Given the description of an element on the screen output the (x, y) to click on. 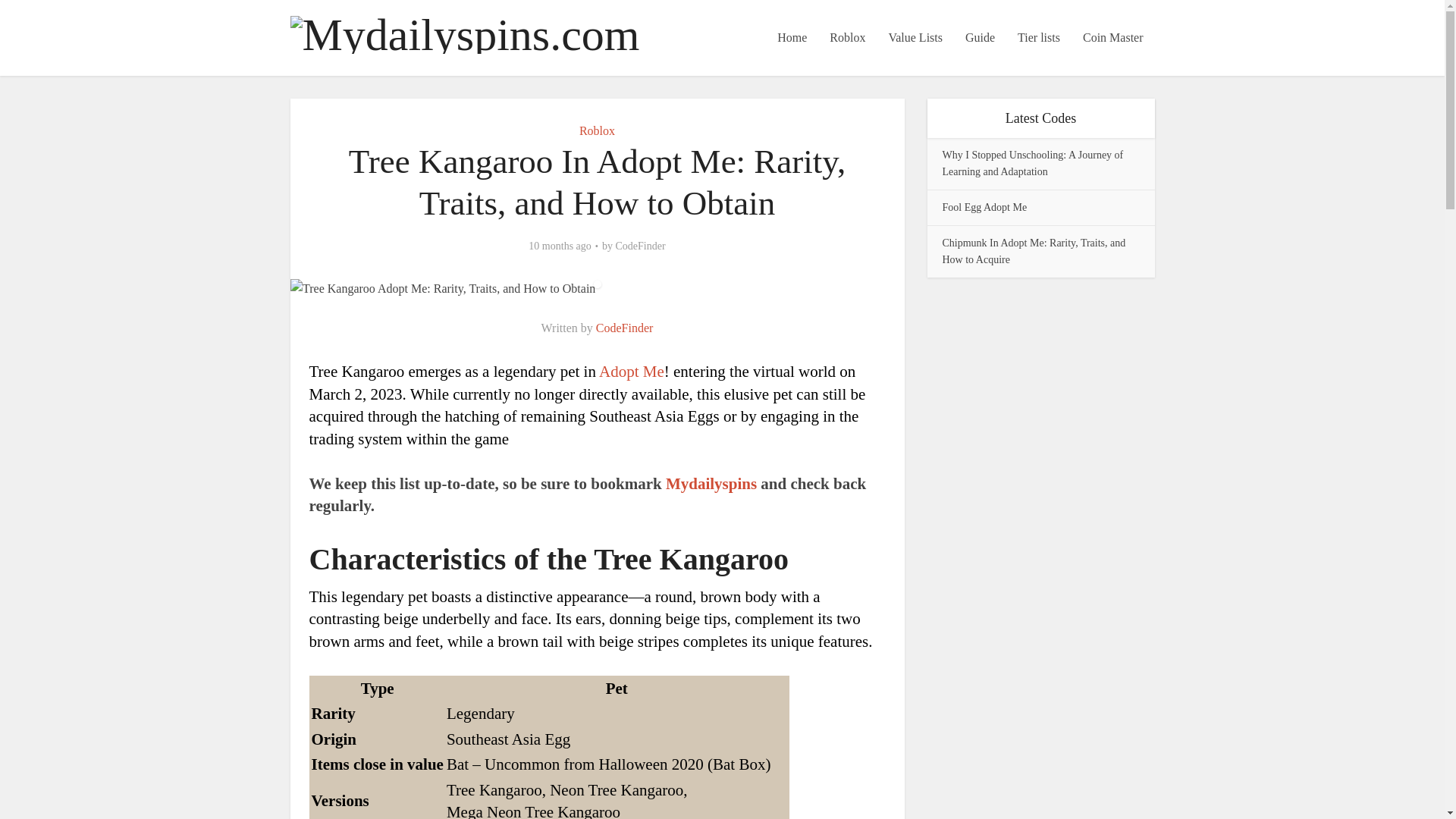
CodeFinder (624, 327)
Adopt Me (630, 371)
CodeFinder (640, 246)
Roblox (596, 130)
Coin Master (1112, 38)
Mydailyspins  (712, 484)
Value Lists (914, 38)
